Given the description of an element on the screen output the (x, y) to click on. 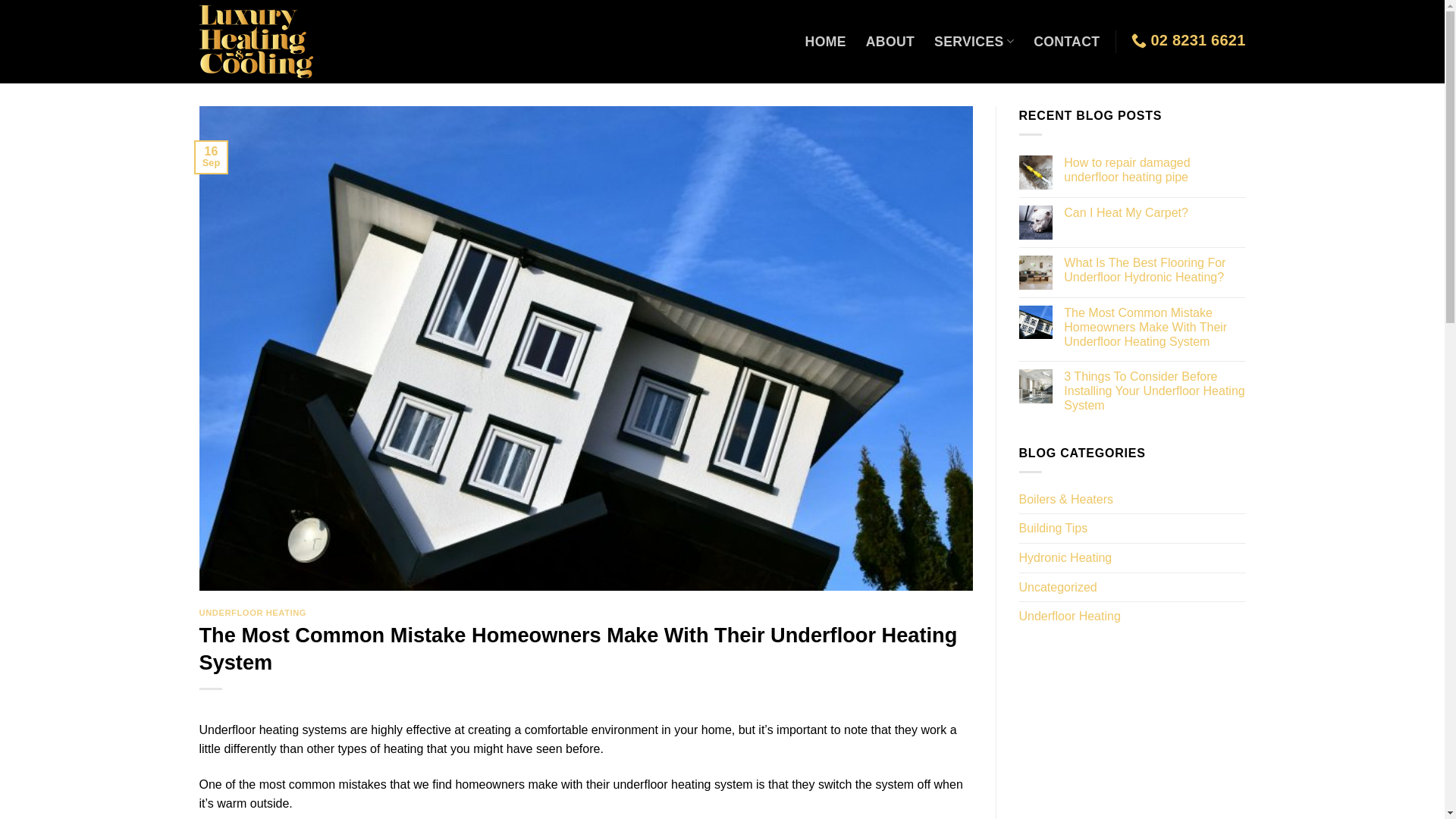
UNDERFLOOR HEATING Element type: text (252, 612)
Skip to content Element type: text (0, 0)
02 8231 6621 Element type: text (1188, 40)
How to repair damaged underfloor heating pipe Element type: text (1154, 169)
What Is The Best Flooring For Underfloor Hydronic Heating? Element type: text (1154, 269)
SERVICES Element type: text (973, 41)
Underfloor Heating Element type: text (1069, 616)
Can I Heat My Carpet? Element type: text (1154, 212)
CONTACT Element type: text (1066, 41)
Boilers & Heaters Element type: text (1066, 499)
Building Tips Element type: text (1053, 528)
ABOUT Element type: text (890, 41)
HOME Element type: text (825, 41)
Uncategorized Element type: text (1058, 587)
Luxury Heating & Cooling - Heating & Cooling Systems Sydney Element type: hover (262, 41)
Hydronic Heating Element type: text (1065, 557)
